Given the description of an element on the screen output the (x, y) to click on. 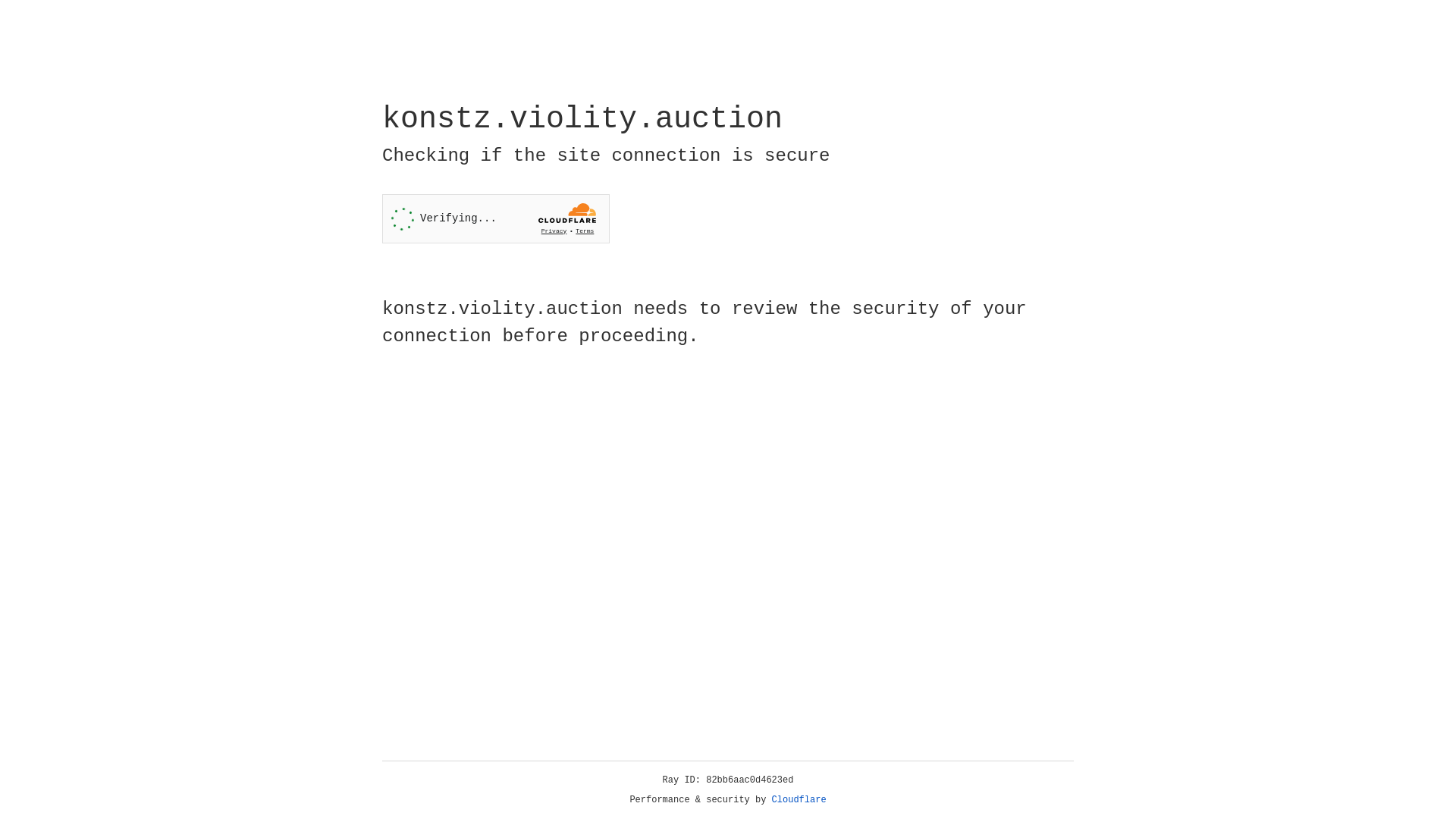
Widget containing a Cloudflare security challenge Element type: hover (495, 218)
Cloudflare Element type: text (798, 799)
